Given the description of an element on the screen output the (x, y) to click on. 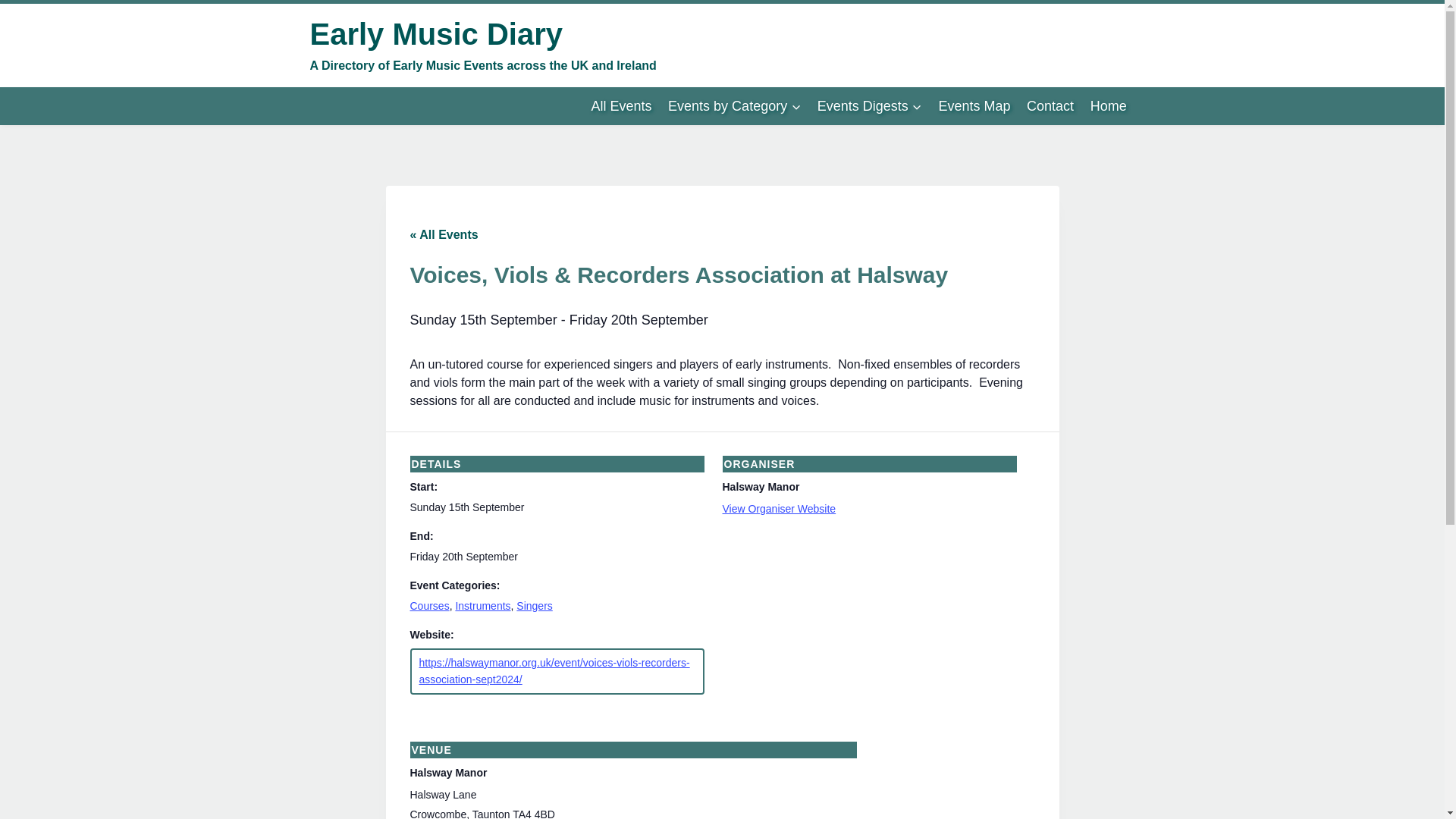
All Events (622, 105)
2024-09-15 (466, 507)
2024-09-20 (462, 556)
Contact (1049, 105)
Courses (428, 605)
Google maps iframe displaying the address to Halsway Manor (955, 780)
View Organiser Website (778, 508)
Events Map (974, 105)
Instruments (482, 605)
Home (1108, 105)
Events by Category (734, 105)
Taunton (491, 813)
Events Digests (869, 105)
Singers (533, 605)
